Given the description of an element on the screen output the (x, y) to click on. 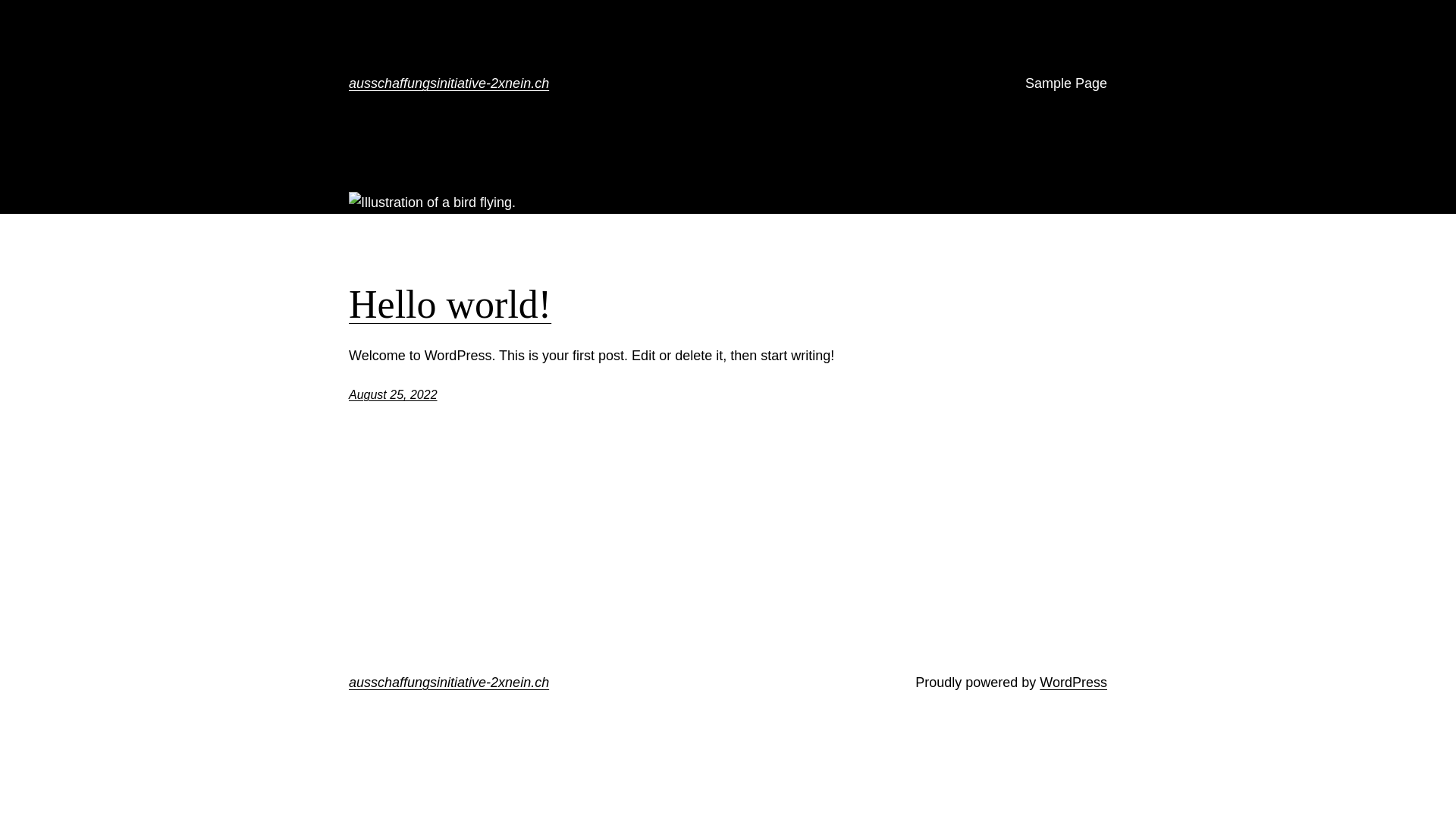
WordPress Element type: text (1073, 682)
Sample Page Element type: text (1066, 83)
August 25, 2022 Element type: text (392, 394)
ausschaffungsinitiative-2xnein.ch Element type: text (448, 83)
Hello world! Element type: text (449, 304)
ausschaffungsinitiative-2xnein.ch Element type: text (448, 682)
